Given the description of an element on the screen output the (x, y) to click on. 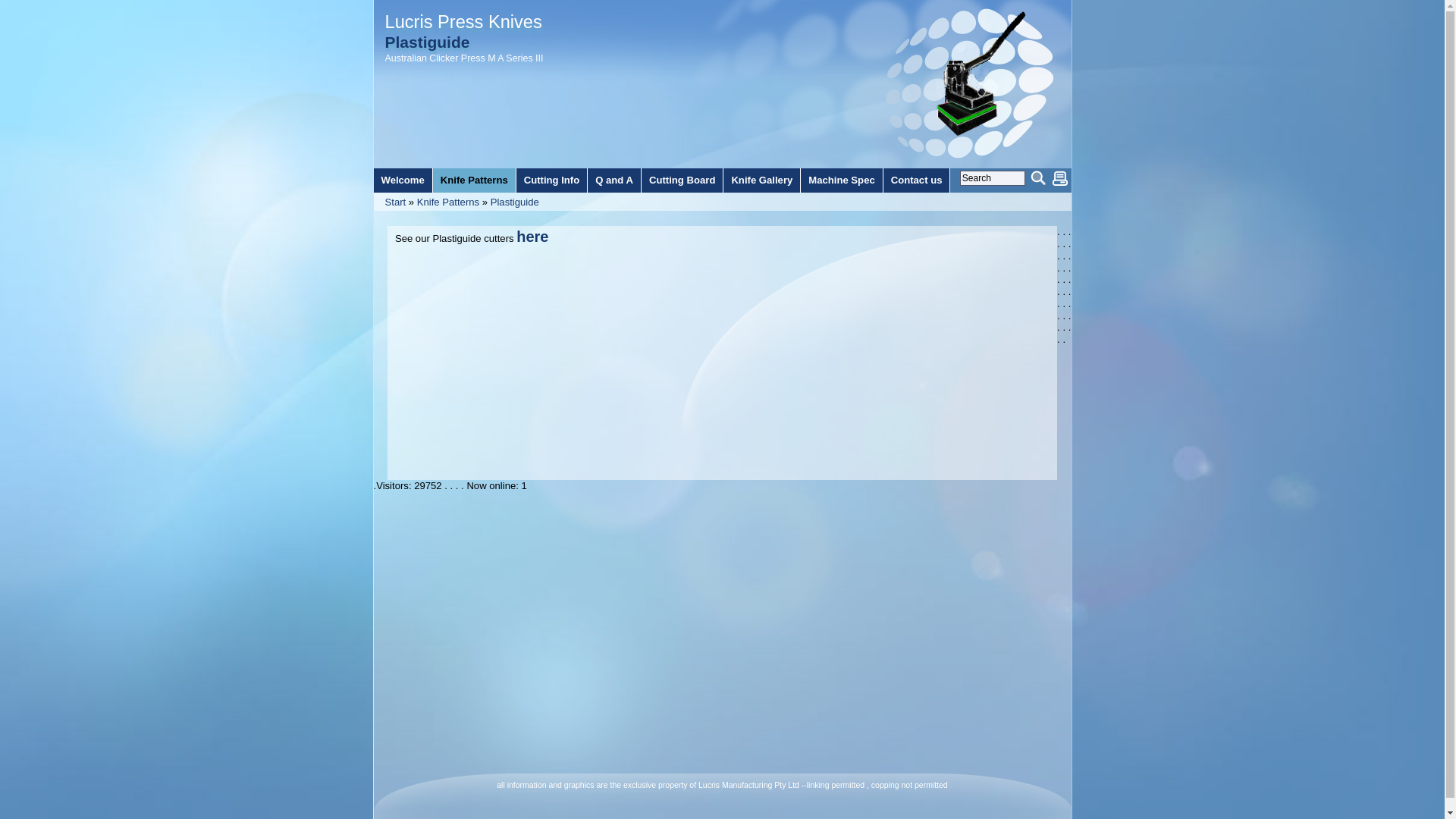
Contact us Element type: text (916, 180)
Welcome Element type: text (402, 180)
Cutting Info Element type: text (551, 180)
Plastiguide Element type: text (514, 201)
Knife Gallery Element type: text (761, 180)
here Element type: text (532, 236)
Cutting Board Element type: text (681, 180)
Knife Patterns Element type: text (474, 180)
Machine Spec Element type: text (840, 180)
Knife Patterns Element type: text (448, 201)
Lucris Press Knives Element type: text (463, 21)
Q and A Element type: text (613, 180)
Start Element type: text (395, 201)
